Given the description of an element on the screen output the (x, y) to click on. 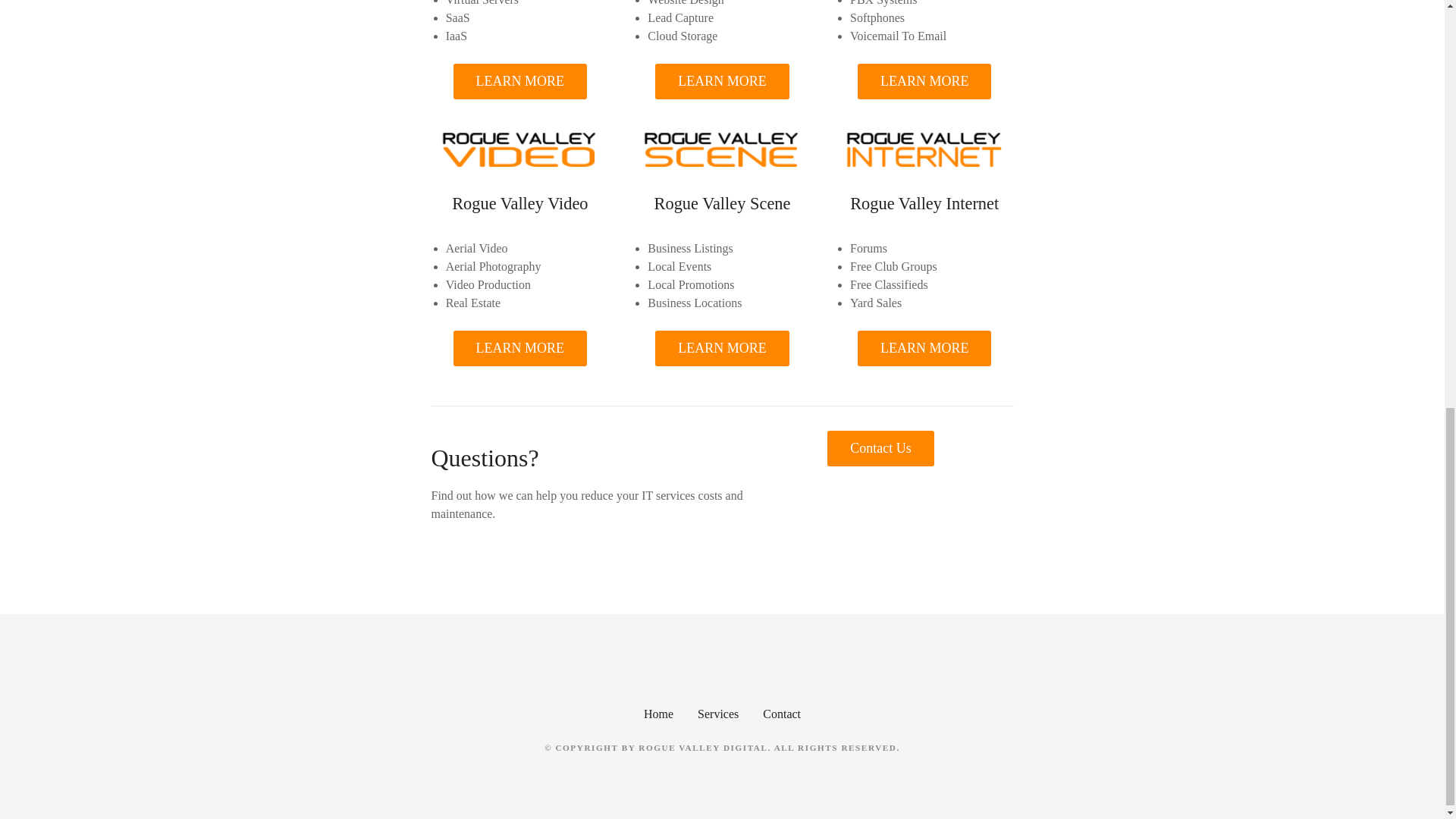
Contact (781, 712)
Rogue Valley Video (519, 203)
Services (717, 712)
ROGUE VALLEY DIGITAL (703, 747)
Home (657, 712)
LEARN MORE (722, 348)
LEARN MORE (924, 348)
Rogue Valley Scene (721, 203)
LEARN MORE (924, 81)
Rogue Valley Internet (924, 203)
Contact Us (880, 448)
LEARN MORE (520, 348)
LEARN MORE (722, 81)
LEARN MORE (520, 81)
